Given the description of an element on the screen output the (x, y) to click on. 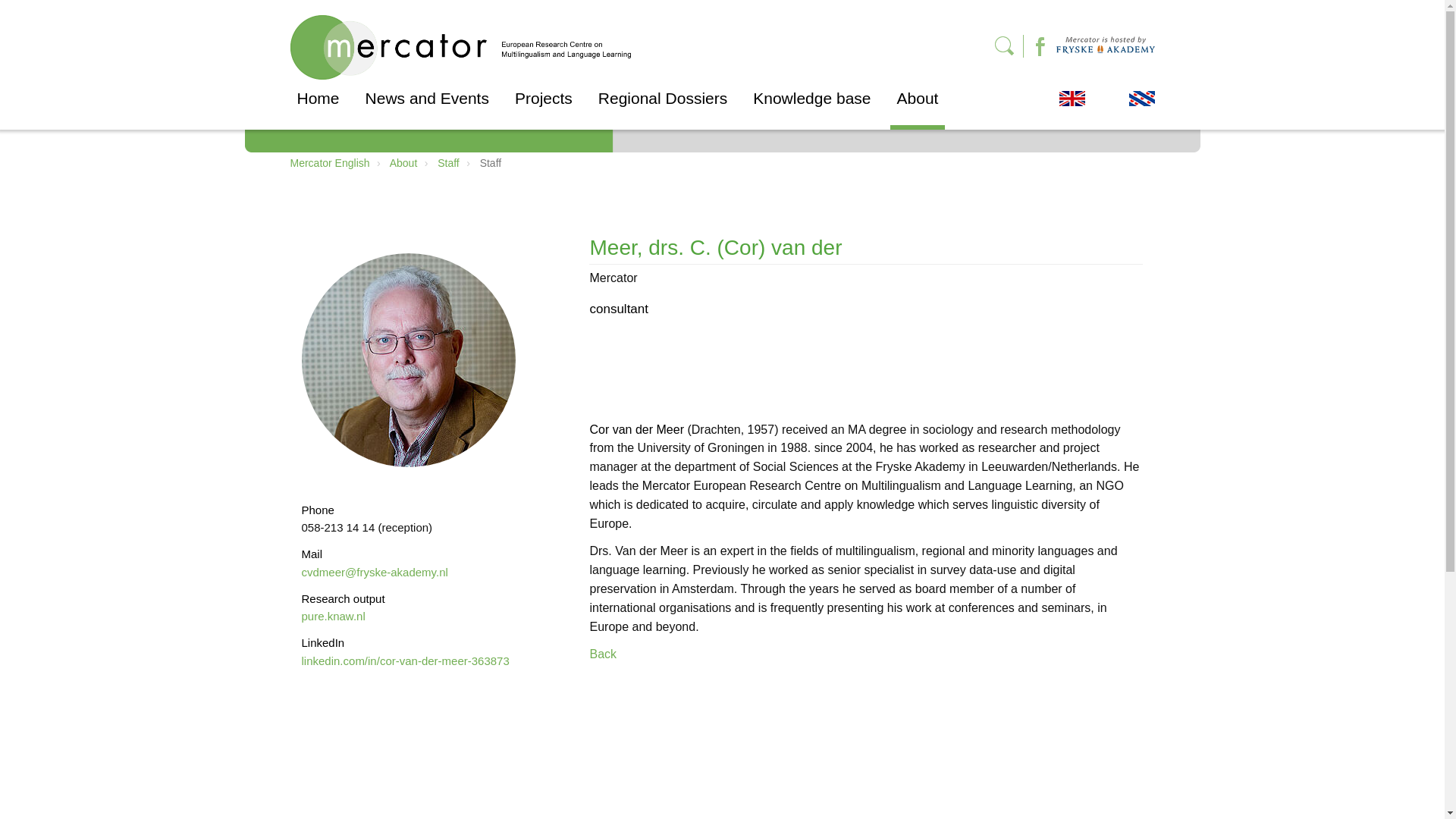
Regional Dossiers (662, 107)
Regional Dossiers (662, 107)
Projects (543, 107)
Knowledge base (811, 107)
Facebook (1034, 44)
News and Events (427, 107)
Home (317, 107)
En (1071, 98)
About (916, 107)
